Given the description of an element on the screen output the (x, y) to click on. 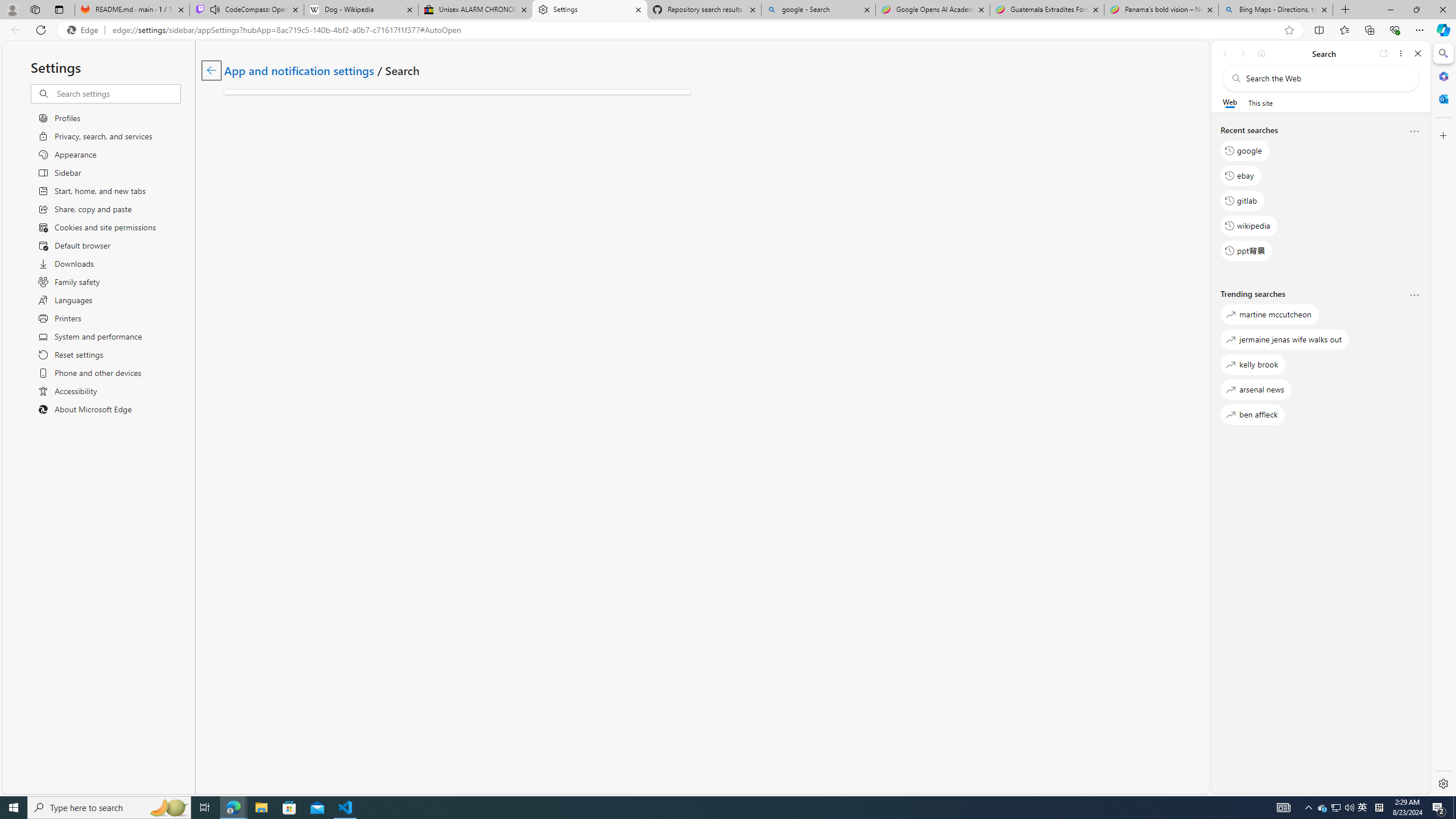
Search settings (117, 93)
